Given the description of an element on the screen output the (x, y) to click on. 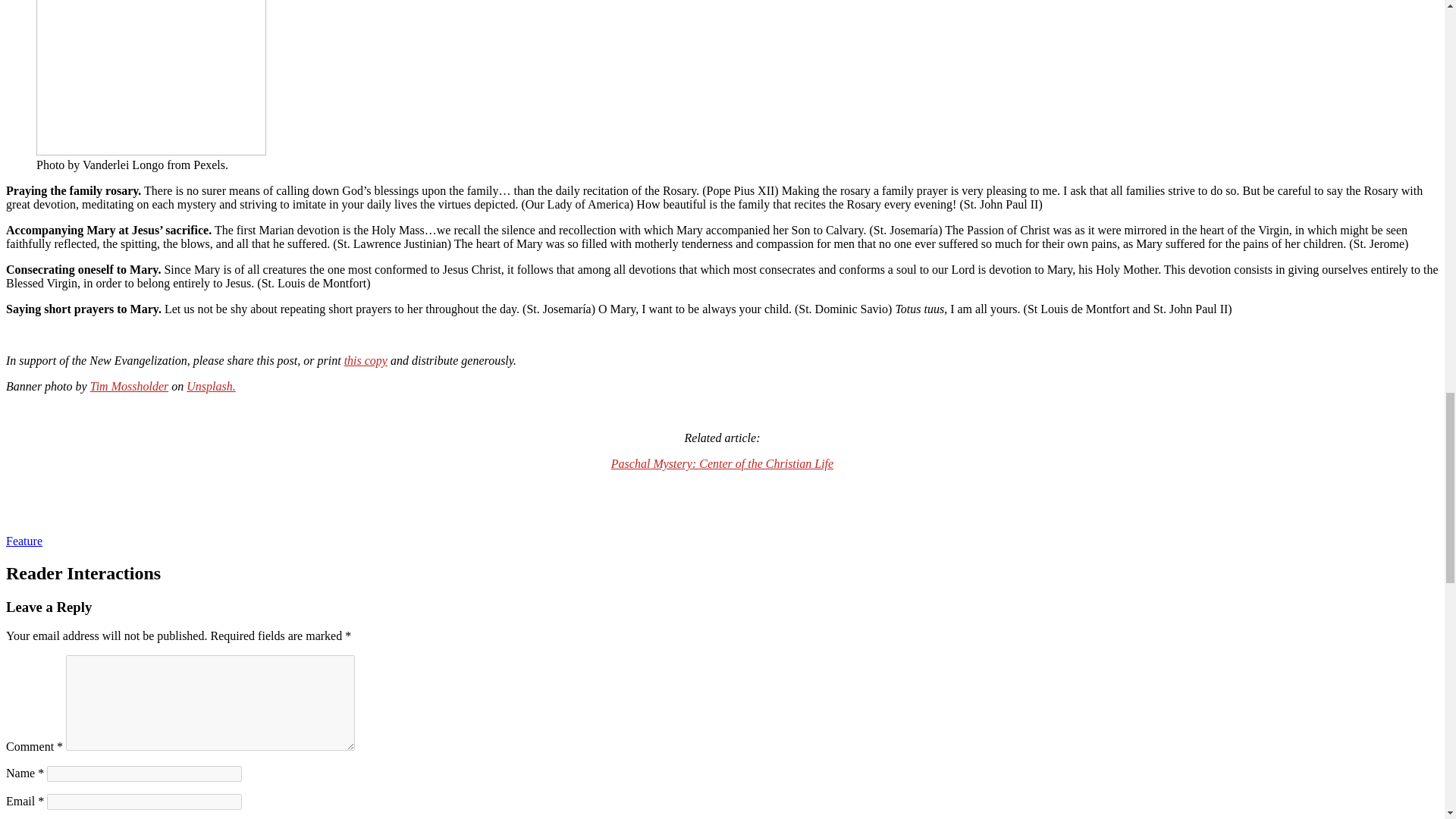
Tim Mossholder (129, 386)
Unsplash. (210, 386)
this copy (365, 359)
Feature (23, 540)
Paschal Mystery: Center of the Christian Life (721, 463)
